Given the description of an element on the screen output the (x, y) to click on. 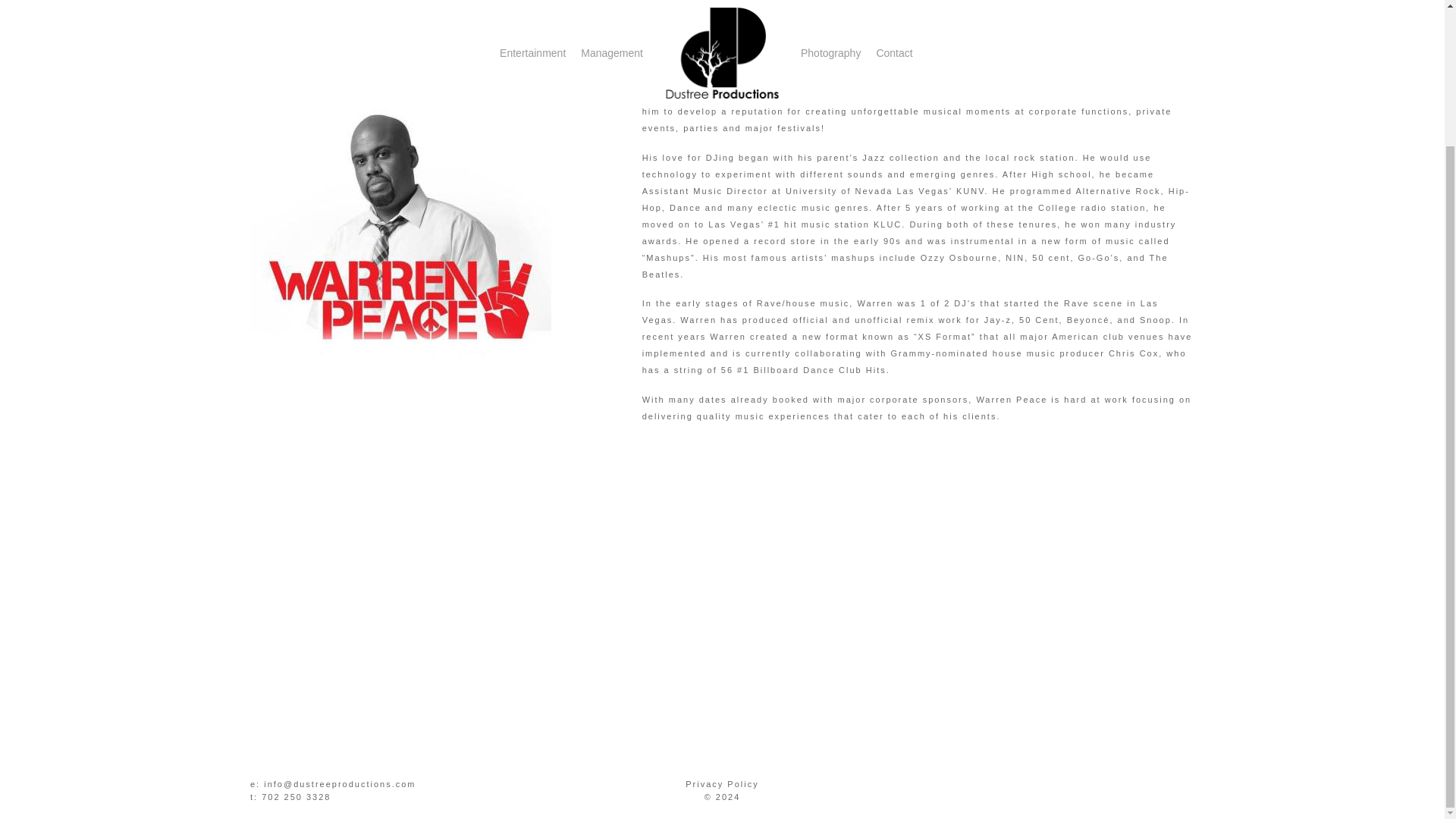
Privacy Policy (721, 783)
Back to all projects (254, 4)
